Given the description of an element on the screen output the (x, y) to click on. 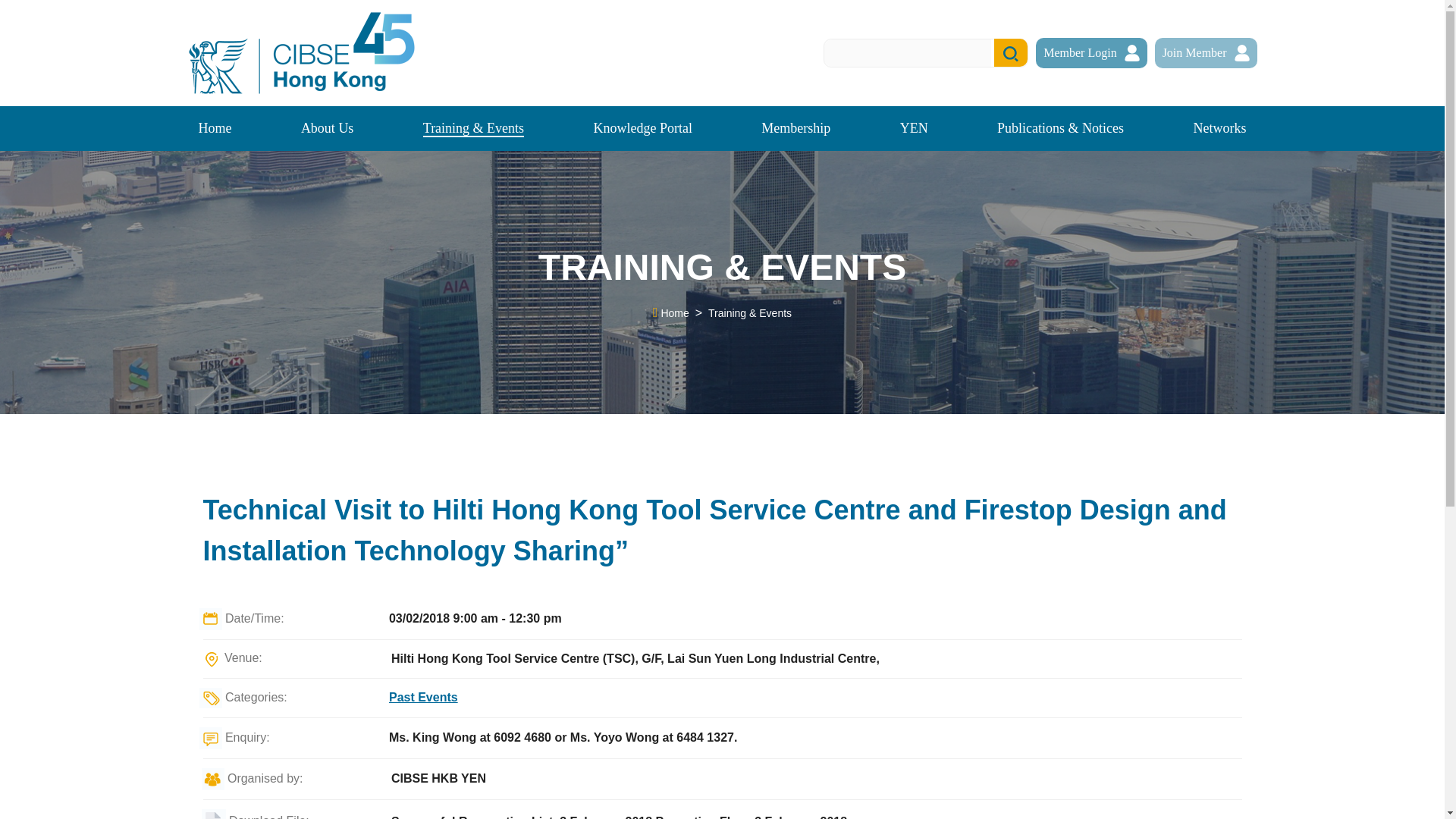
Knowledge Portal (641, 128)
About Us (327, 128)
Networks (1219, 128)
Member Login (1091, 52)
Join Member (1205, 52)
Membership (795, 128)
